Given the description of an element on the screen output the (x, y) to click on. 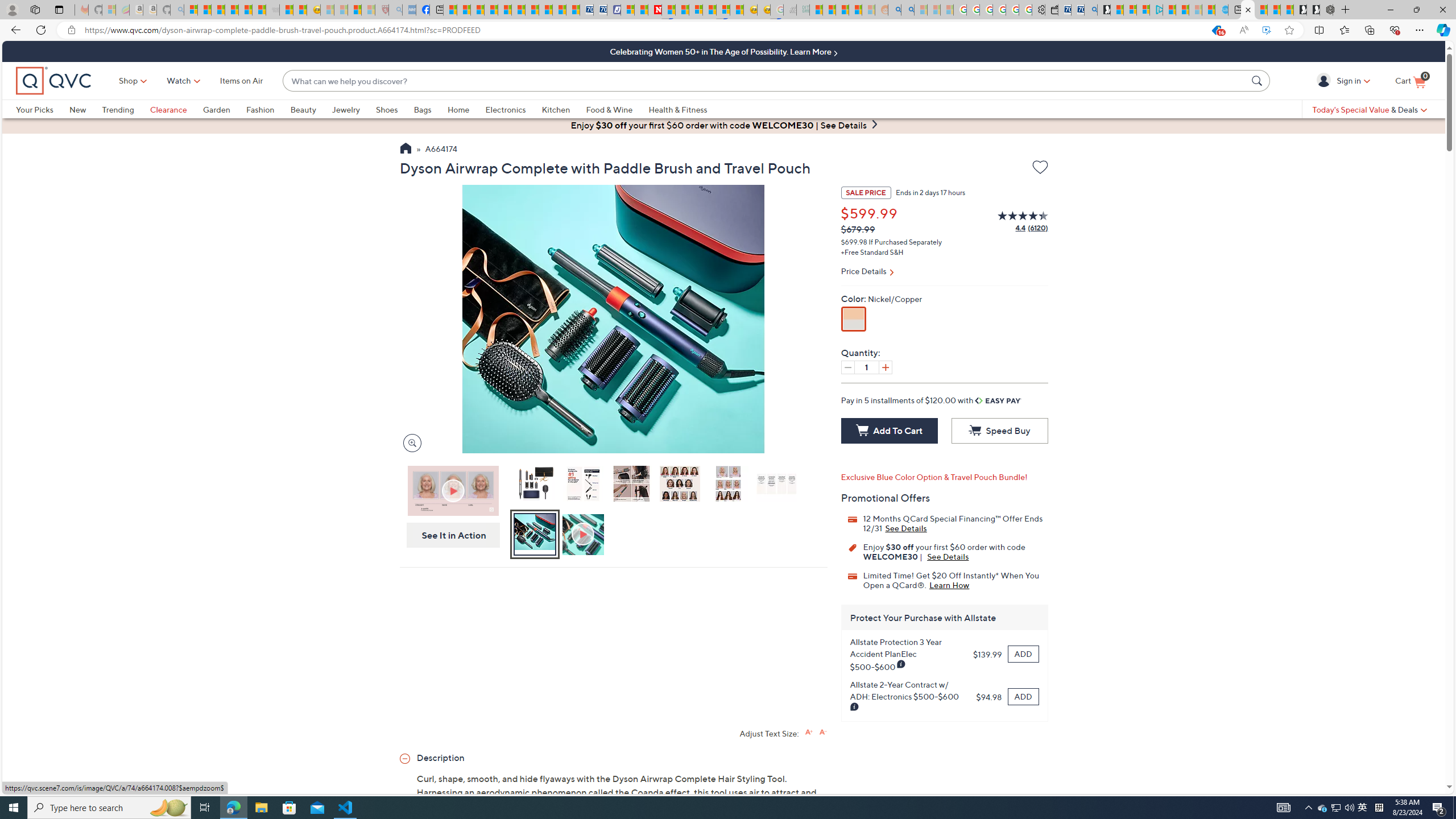
QVC home (53, 80)
Nordace - Nordace Siena Is Not An Ordinary Backpack (1326, 9)
Trusted Community Engagement and Contributions | Guidelines (667, 9)
12 Months QCard Special Financing Offer Ends 12/31 (906, 527)
Kitchen (555, 109)
Description (612, 756)
Garden (216, 109)
